Given the description of an element on the screen output the (x, y) to click on. 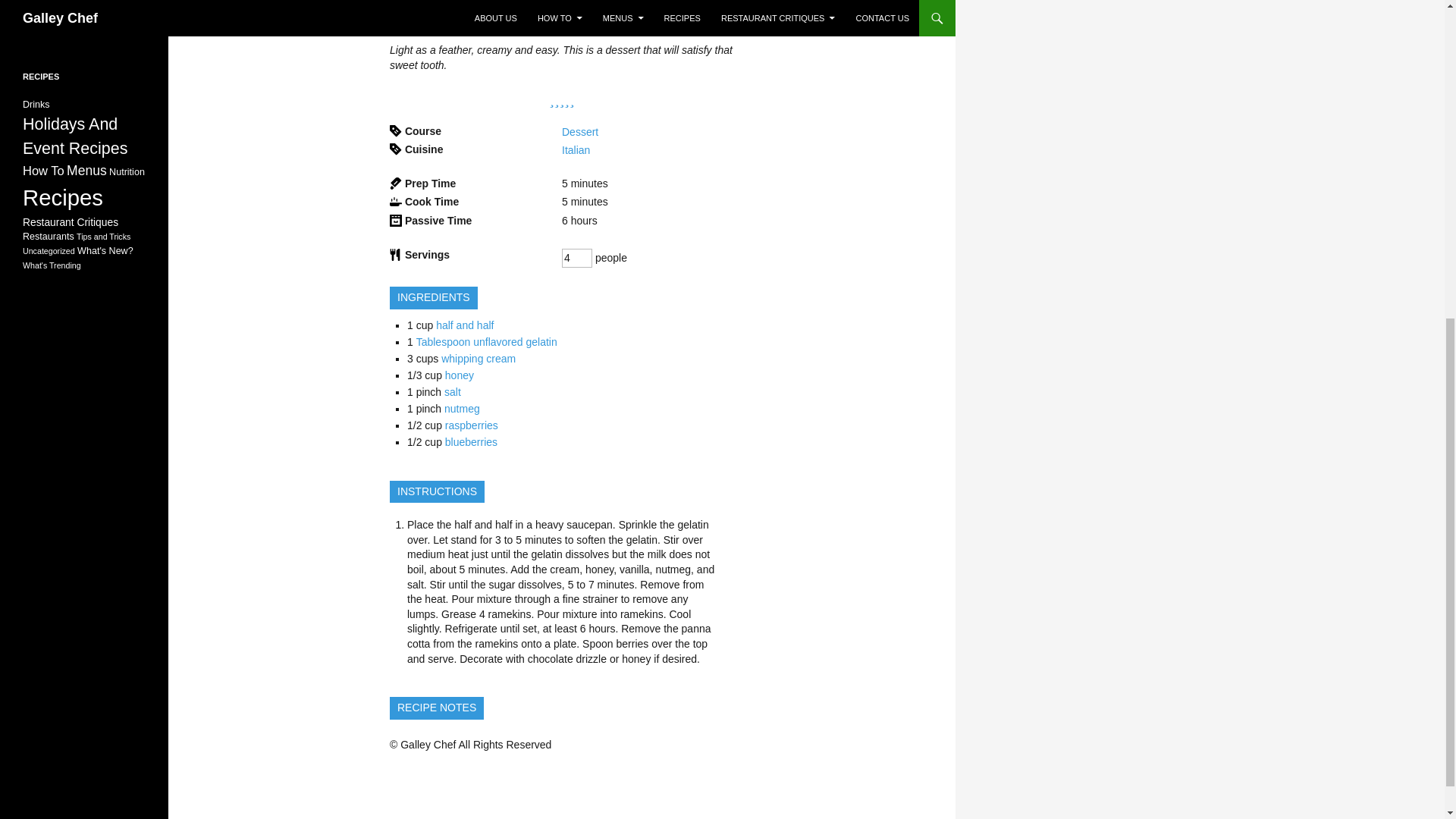
4 (577, 257)
raspberries (471, 425)
Dessert (580, 132)
blueberries (471, 441)
half and half (464, 325)
whipping cream (478, 358)
Italian (575, 150)
salt (452, 391)
honey (459, 375)
nutmeg (462, 408)
